Given the description of an element on the screen output the (x, y) to click on. 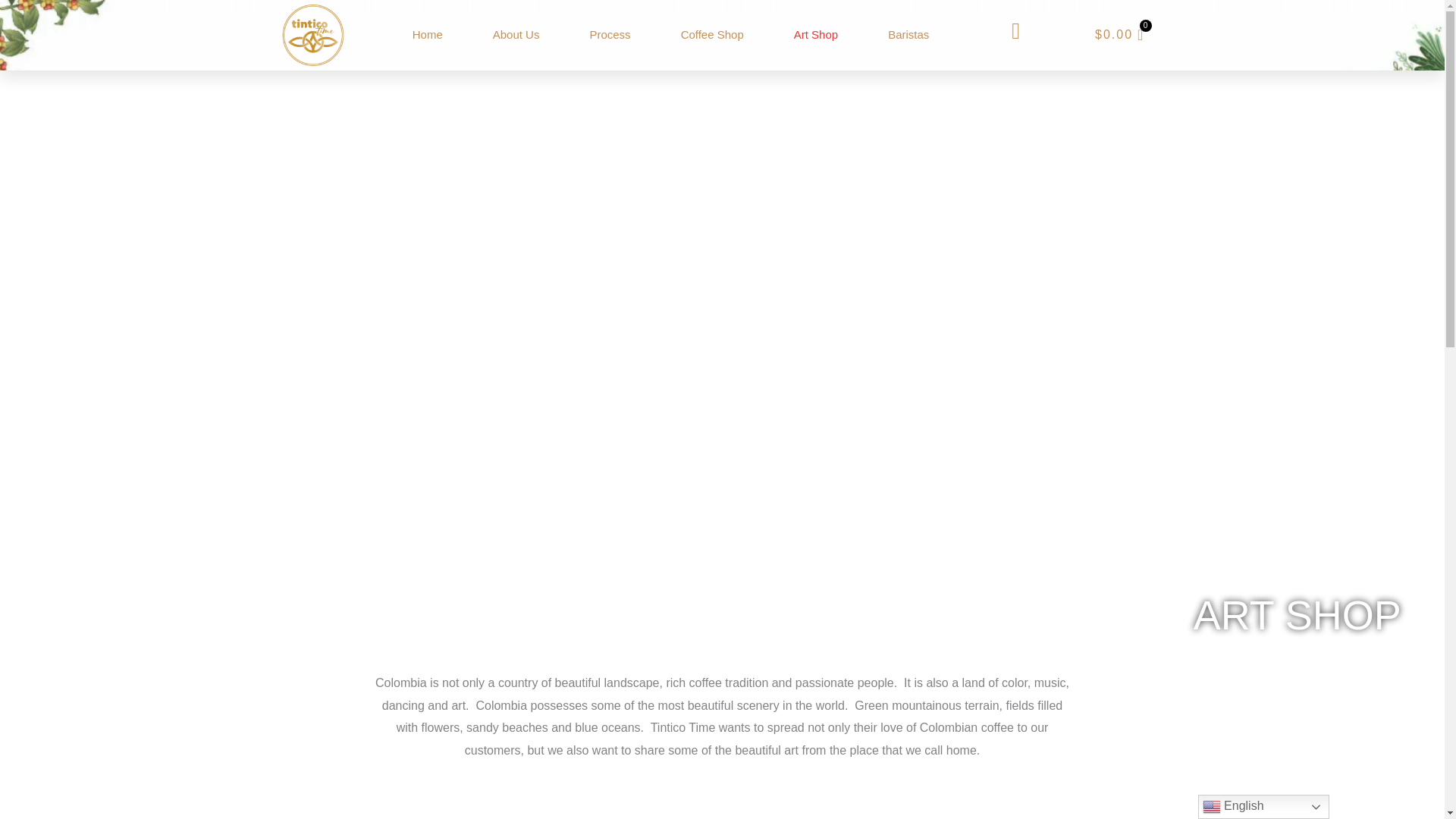
Process (609, 34)
Baristas (908, 34)
Coffee Shop (712, 34)
About Us (516, 34)
Art Shop (815, 34)
Home (427, 34)
